Given the description of an element on the screen output the (x, y) to click on. 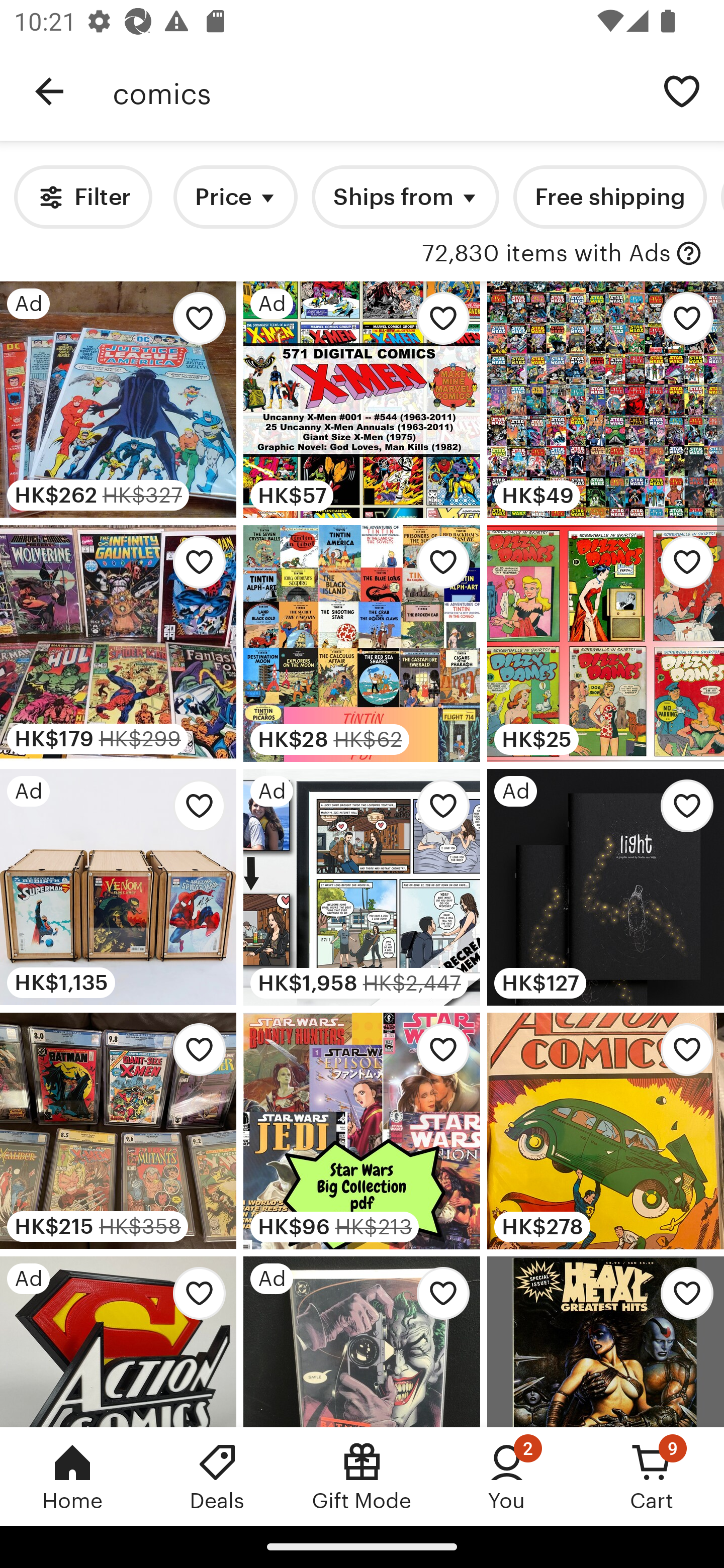
Navigate up (49, 91)
Save search (681, 90)
comics (375, 91)
Filter (82, 197)
Price (235, 197)
Ships from (405, 197)
Free shipping (609, 197)
72,830 items with Ads (546, 253)
with Ads (688, 253)
Add Star Wars Comics Collection to favorites (681, 322)
Add Tin Tin Comics Book to favorites (438, 567)
Add Star Wars Comics Book to favorites (438, 1054)
Deals (216, 1475)
Gift Mode (361, 1475)
You, 2 new notifications You (506, 1475)
Cart, 9 new notifications Cart (651, 1475)
